Given the description of an element on the screen output the (x, y) to click on. 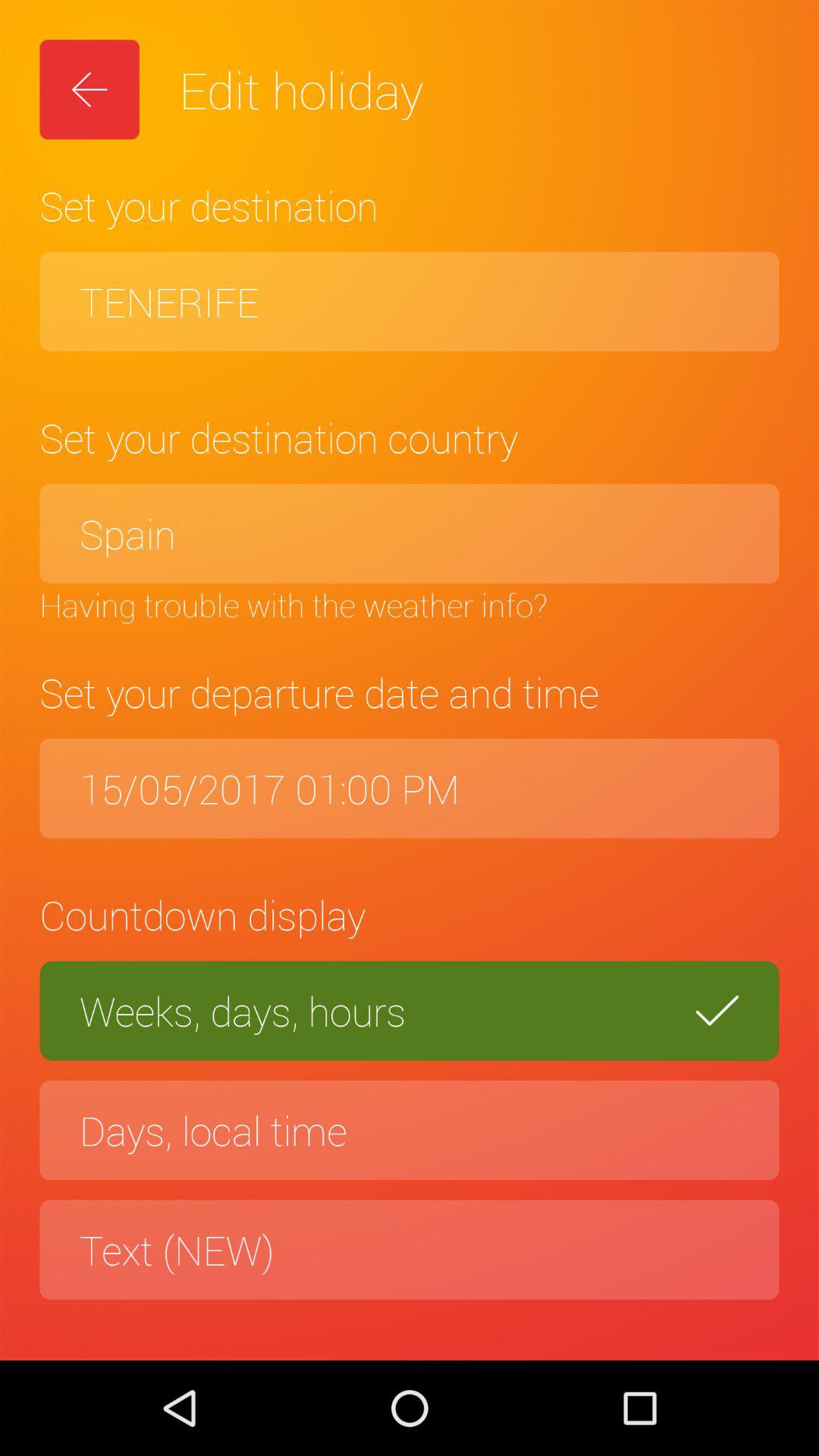
swipe until the text (new) (409, 1249)
